Given the description of an element on the screen output the (x, y) to click on. 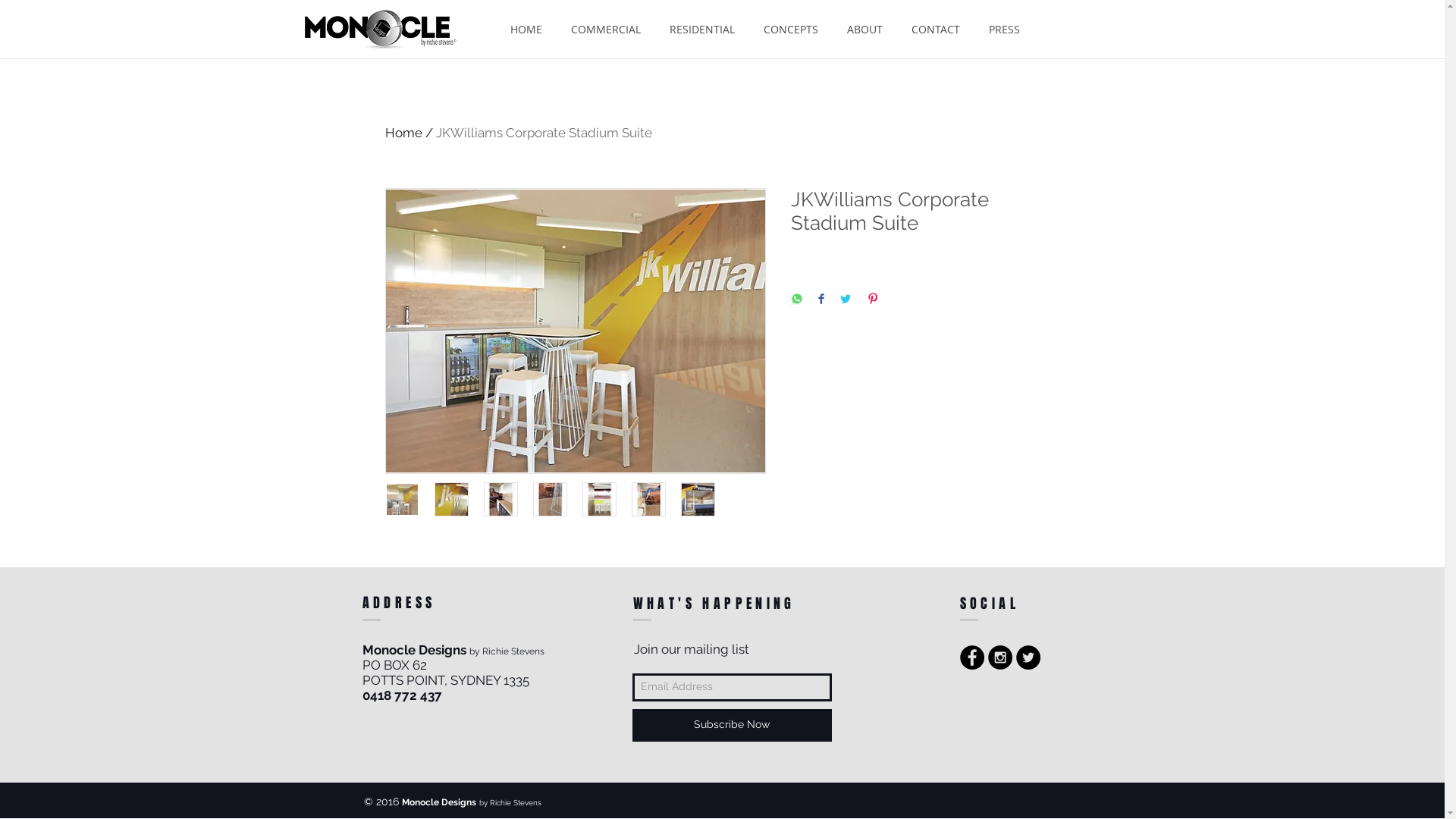
Subscribe Now Element type: text (731, 725)
HOME Element type: text (525, 29)
CONCEPTS Element type: text (790, 29)
CONTACT Element type: text (934, 29)
PRESS Element type: text (1003, 29)
JKWilliams Corporate Stadium Suite Element type: text (543, 132)
COMMERCIAL Element type: text (605, 29)
Home Element type: text (403, 132)
RESIDENTIAL Element type: text (702, 29)
ABOUT Element type: text (864, 29)
